Given the description of an element on the screen output the (x, y) to click on. 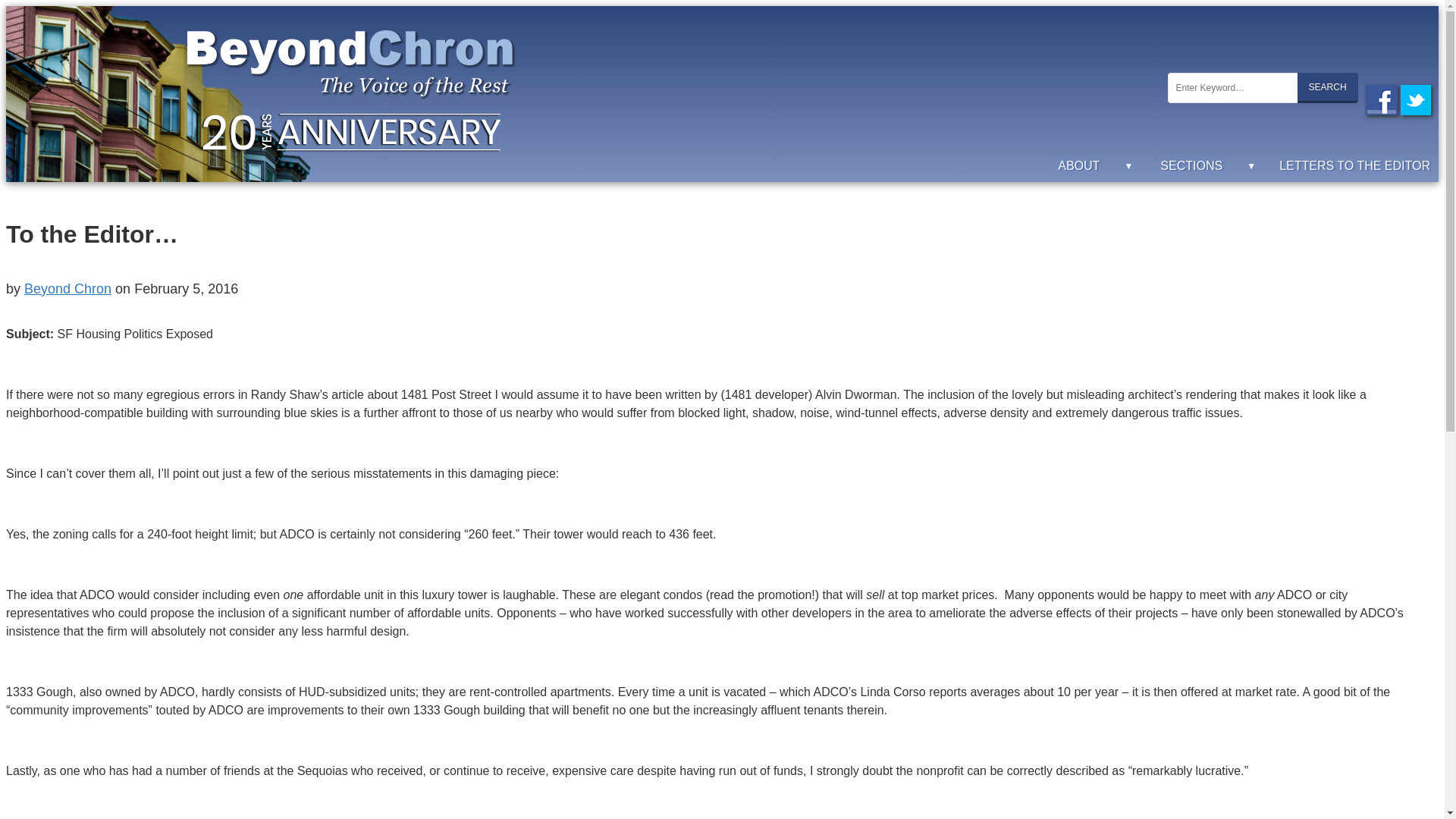
Posts by Beyond Chron (68, 288)
Beyond Chron (68, 288)
Search for: (1232, 87)
ABOUT (1096, 165)
Search (1327, 87)
Search (1327, 87)
Search (1327, 87)
SECTIONS (1209, 165)
